Given the description of an element on the screen output the (x, y) to click on. 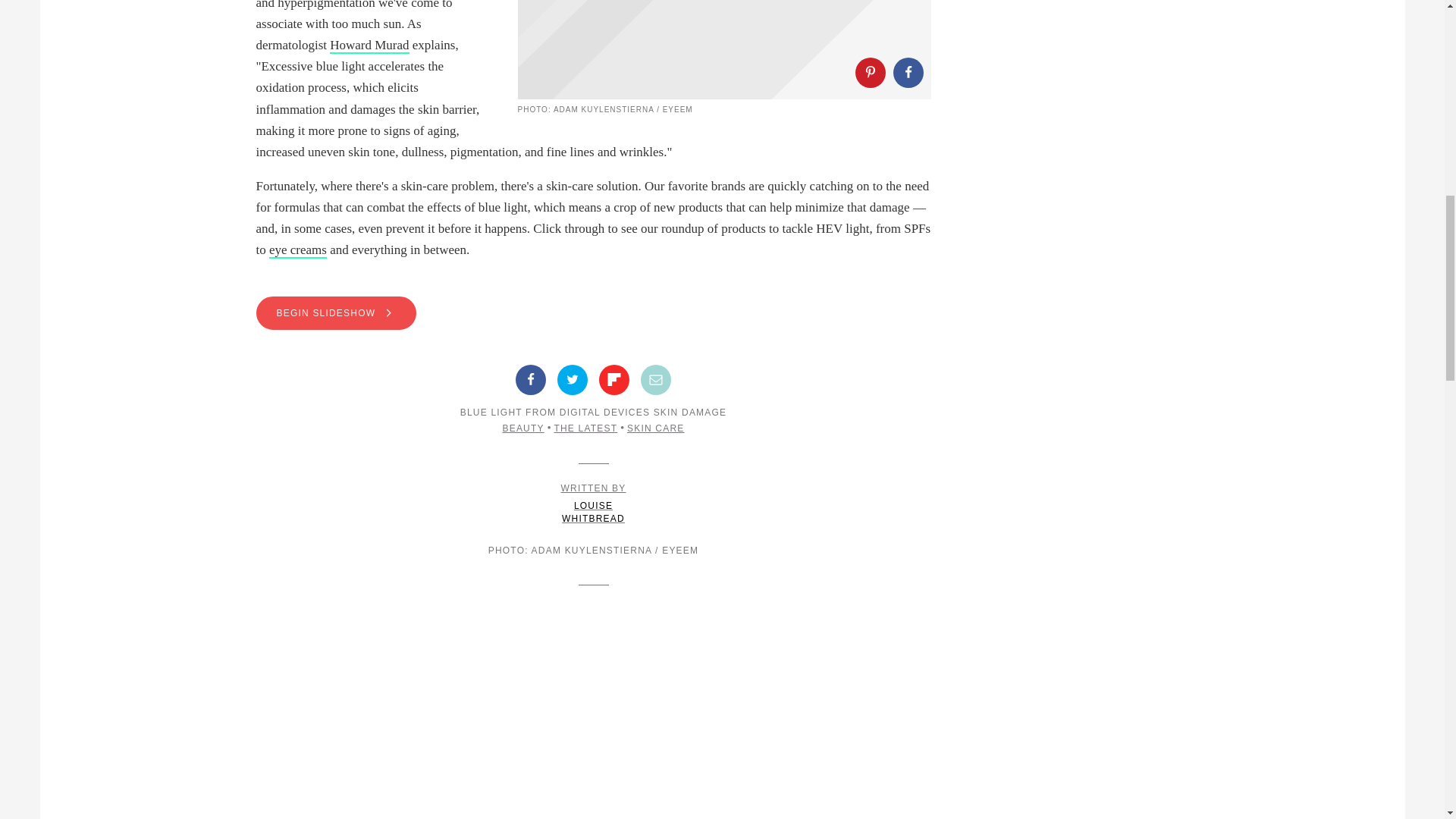
Share on Facebook (908, 72)
eye creams (297, 250)
THE LATEST (585, 428)
Share by Email (655, 379)
Share on Pinterest (870, 72)
Howard Murad (369, 45)
SKIN CARE (655, 428)
BEGIN SLIDESHOW (593, 313)
Share on Twitter (572, 379)
Share on Facebook (530, 379)
BEAUTY (522, 428)
BEGIN SLIDESHOW (336, 313)
Share on Flipboard (594, 503)
